Given the description of an element on the screen output the (x, y) to click on. 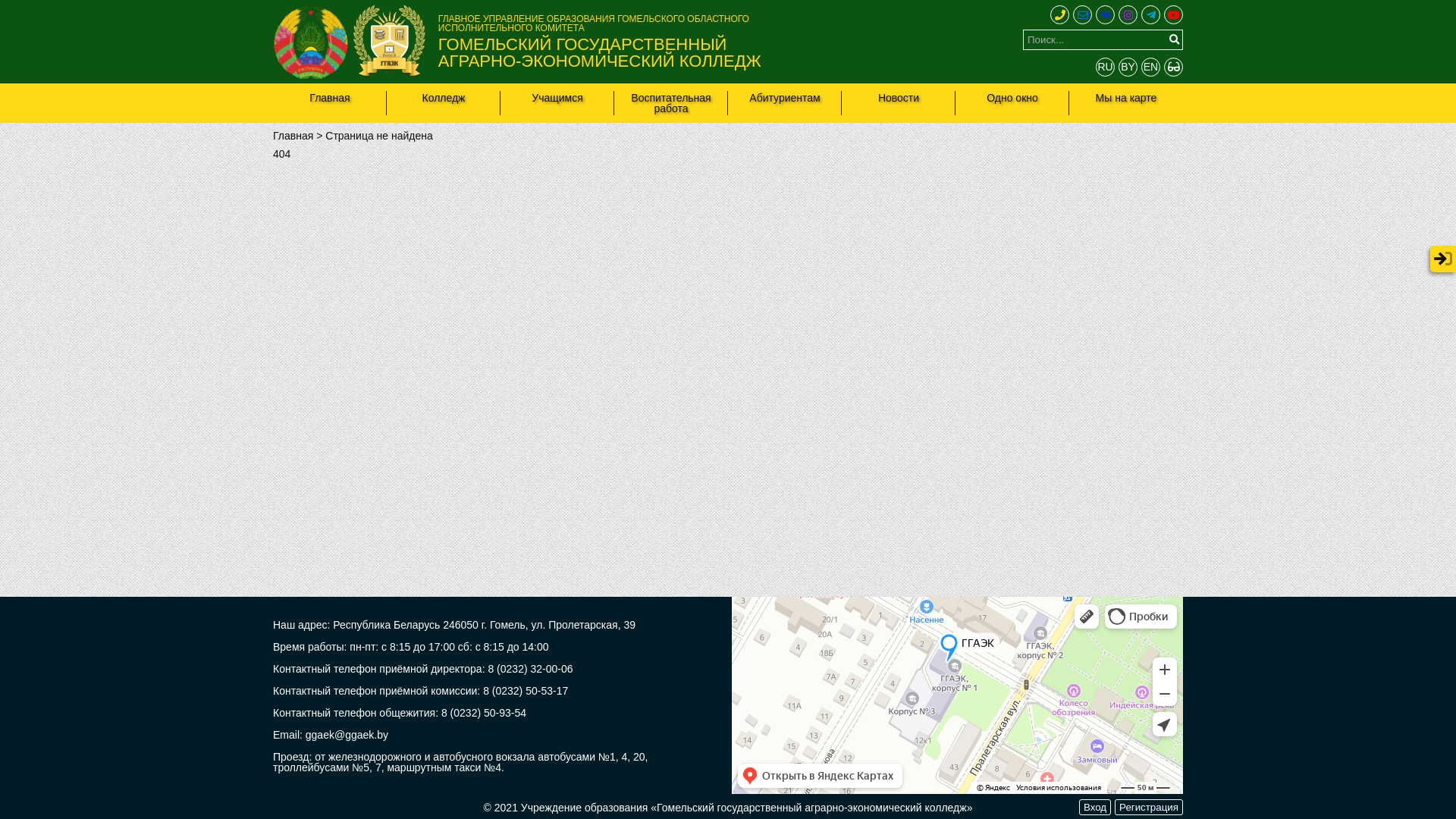
EN Element type: text (1150, 66)
RU Element type: text (1104, 66)
BY Element type: text (1127, 66)
